Given the description of an element on the screen output the (x, y) to click on. 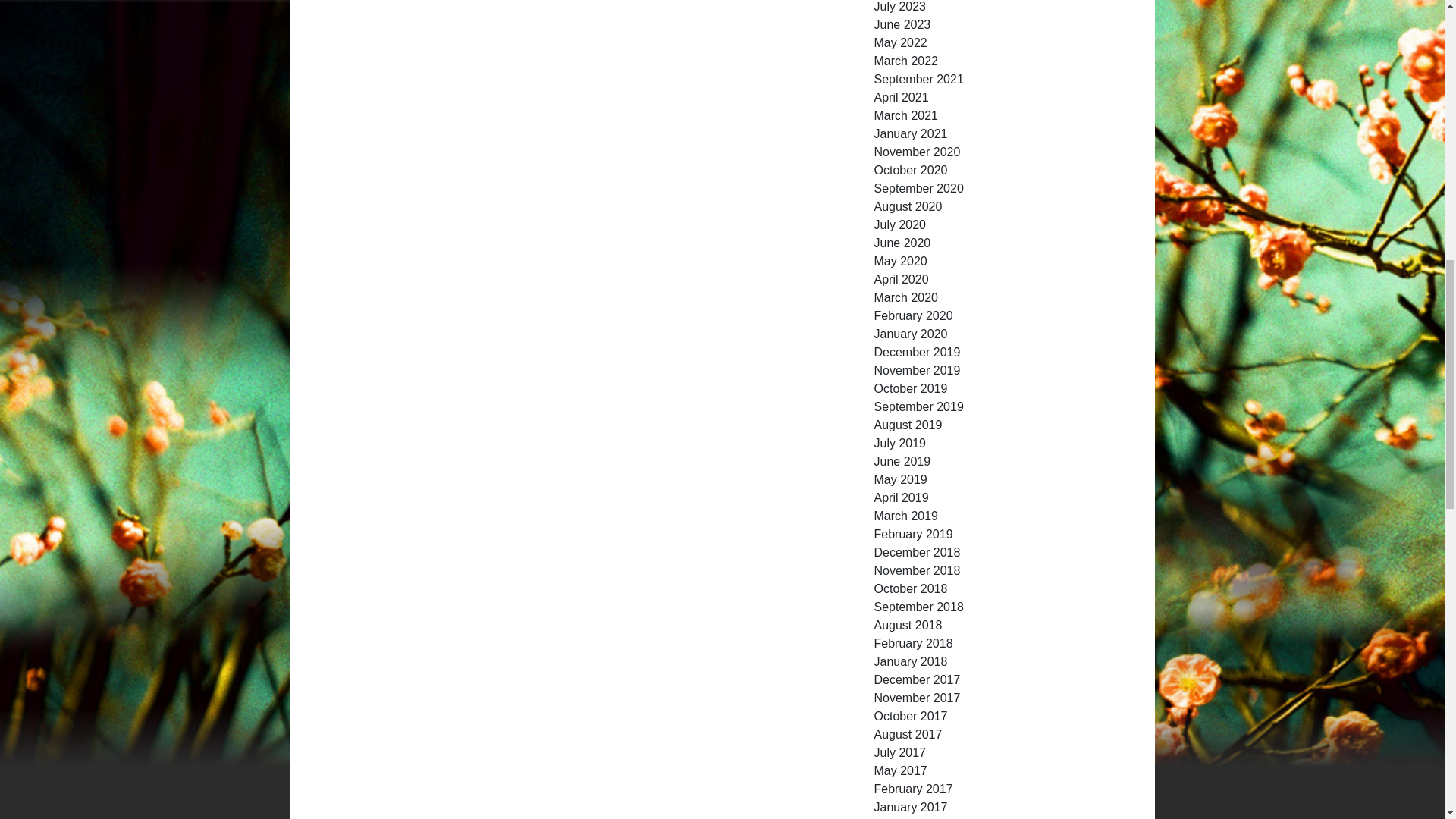
June 2020 (901, 242)
July 2020 (899, 224)
August 2020 (907, 205)
July 2023 (899, 6)
January 2021 (910, 133)
March 2021 (905, 115)
May 2022 (899, 42)
June 2023 (901, 24)
September 2021 (917, 78)
March 2022 (905, 60)
May 2020 (899, 260)
November 2020 (916, 151)
October 2020 (910, 169)
April 2021 (900, 97)
September 2020 (917, 187)
